Given the description of an element on the screen output the (x, y) to click on. 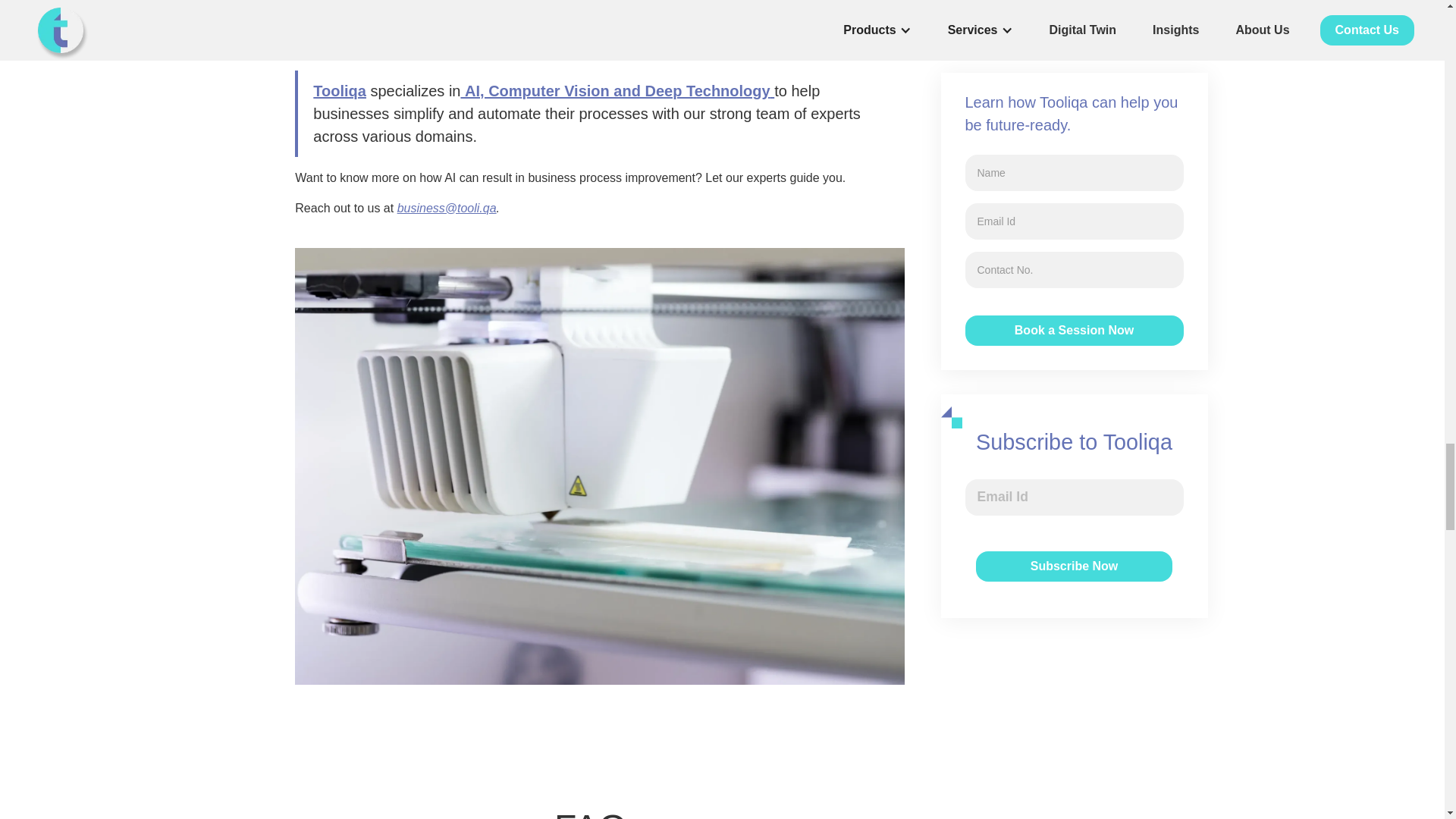
AI, Computer Vision and Deep Technology (617, 90)
Tooliqa (339, 90)
